Given the description of an element on the screen output the (x, y) to click on. 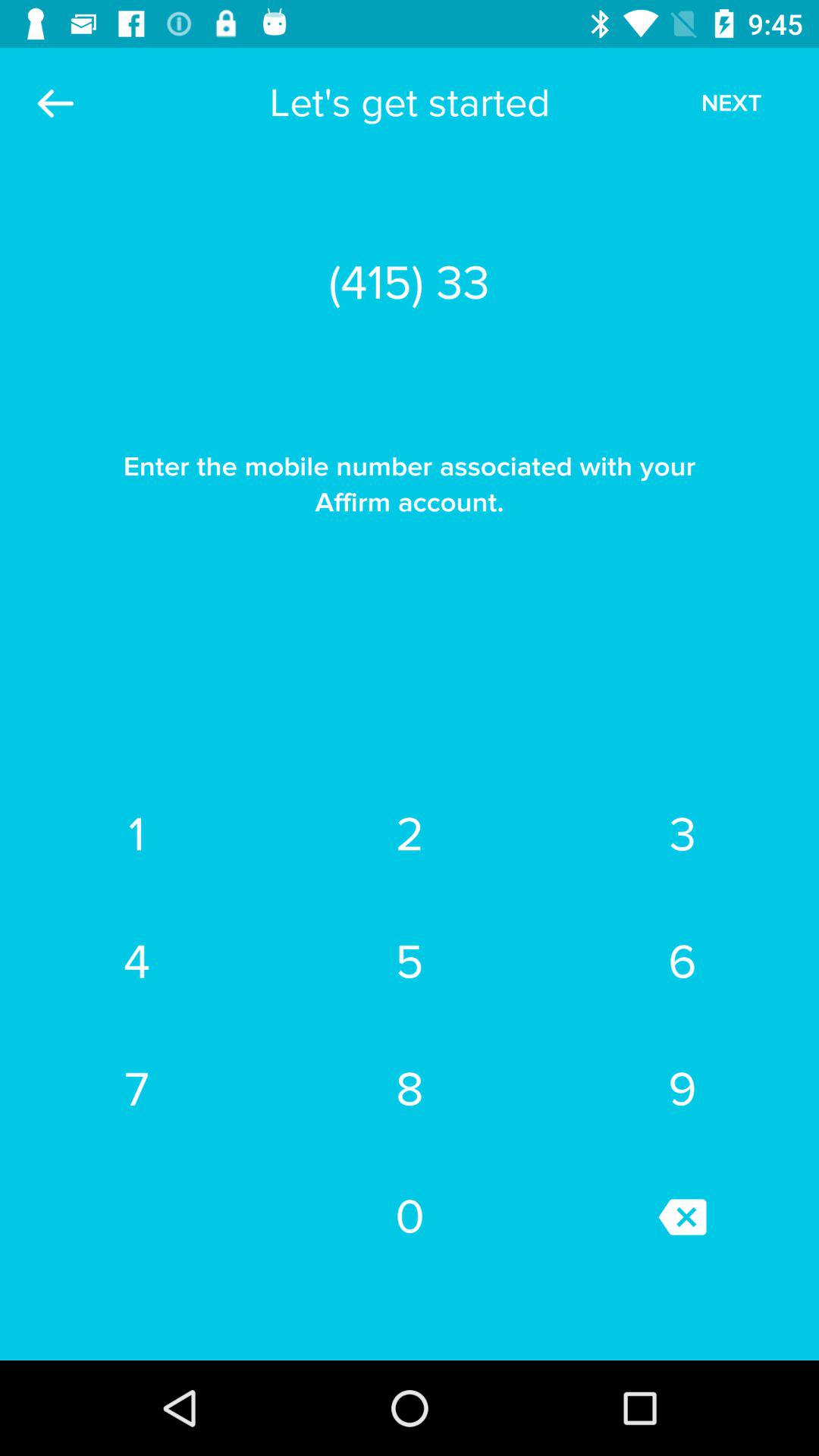
turn on the icon at the top left corner (55, 103)
